Given the description of an element on the screen output the (x, y) to click on. 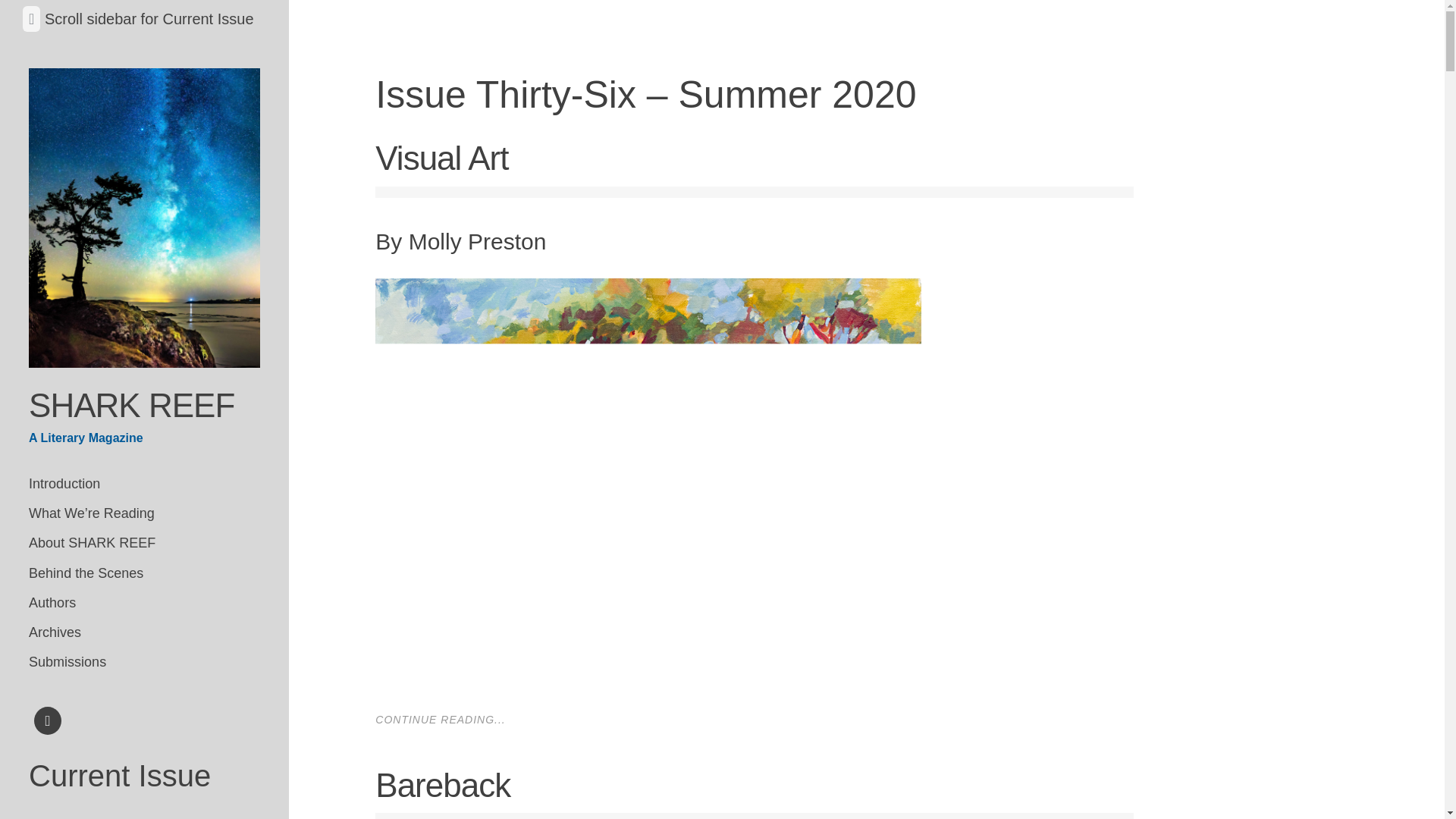
Introduction (144, 483)
Behind the Scenes (144, 573)
Archives (144, 632)
Submissions (144, 662)
Facebook (47, 723)
Scroll sidebar for Current Issue (149, 18)
About SHARK REEF (144, 542)
Authors (144, 603)
SHARK REEF (131, 405)
